Given the description of an element on the screen output the (x, y) to click on. 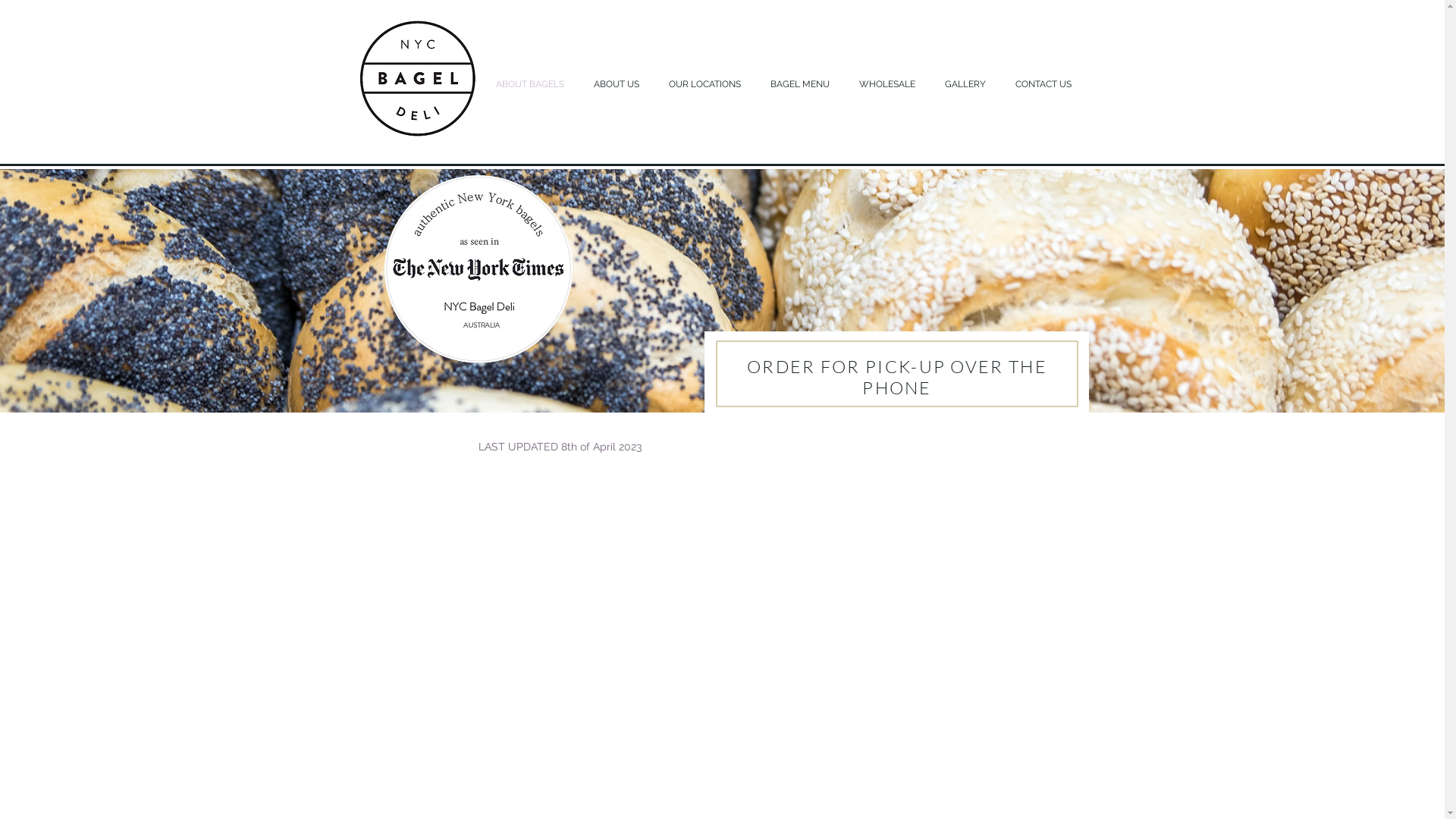
ABOUT BAGELS Element type: text (532, 84)
OUR LOCATIONS Element type: text (707, 84)
WHOLESALE Element type: text (890, 84)
BAGEL MENU Element type: text (802, 84)
ABOUT US Element type: text (619, 84)
GALLERY Element type: text (967, 84)
CONTACT US Element type: text (1046, 84)
